Given the description of an element on the screen output the (x, y) to click on. 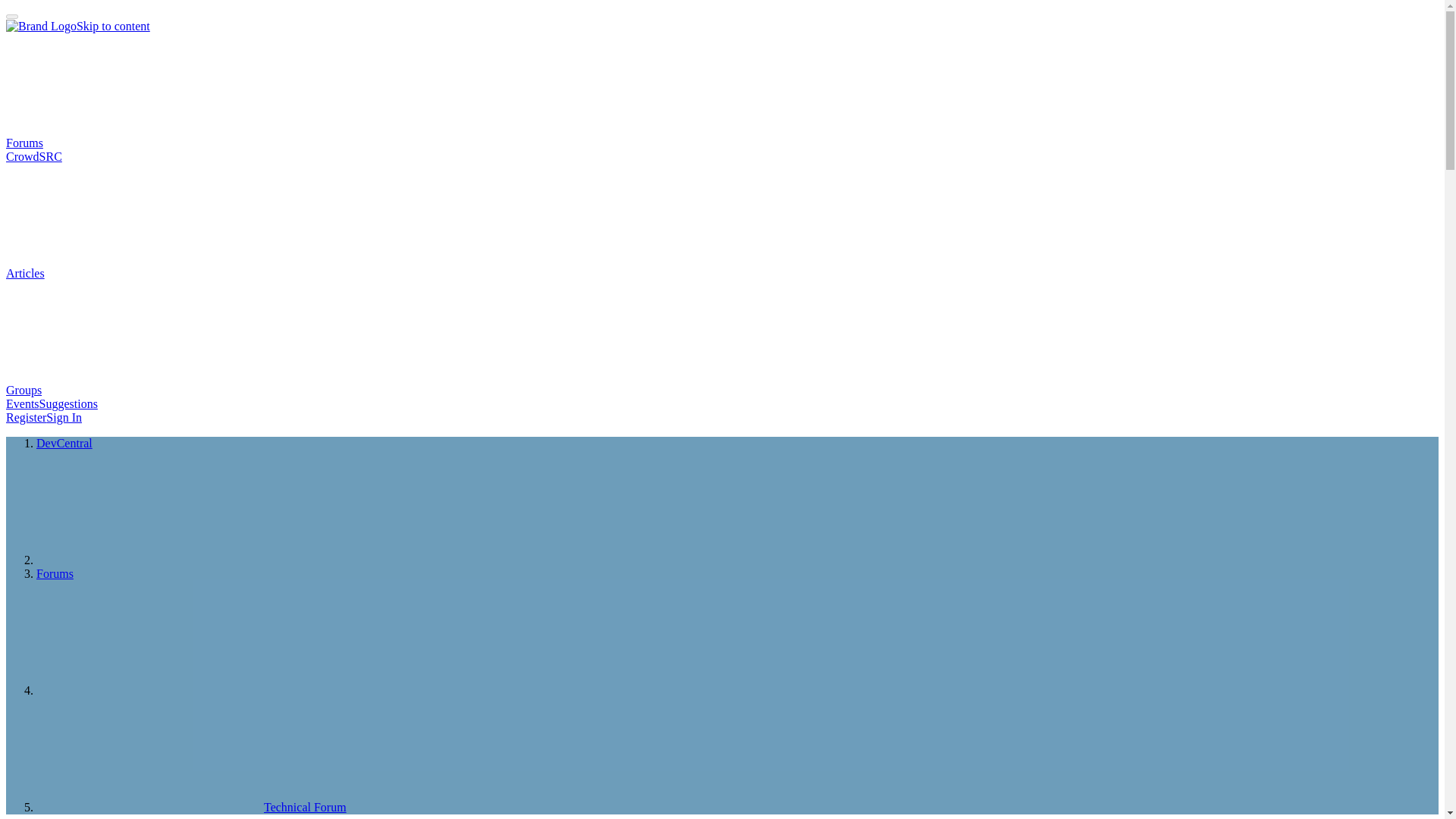
Forums (137, 142)
Register (25, 417)
Technical Forum (191, 807)
Articles (138, 273)
DevCentral (64, 442)
Skip to content (113, 25)
Events (22, 403)
Sign In (63, 417)
Forums (55, 573)
CrowdSRC (33, 155)
Suggestions (68, 403)
Groups (137, 390)
